Given the description of an element on the screen output the (x, y) to click on. 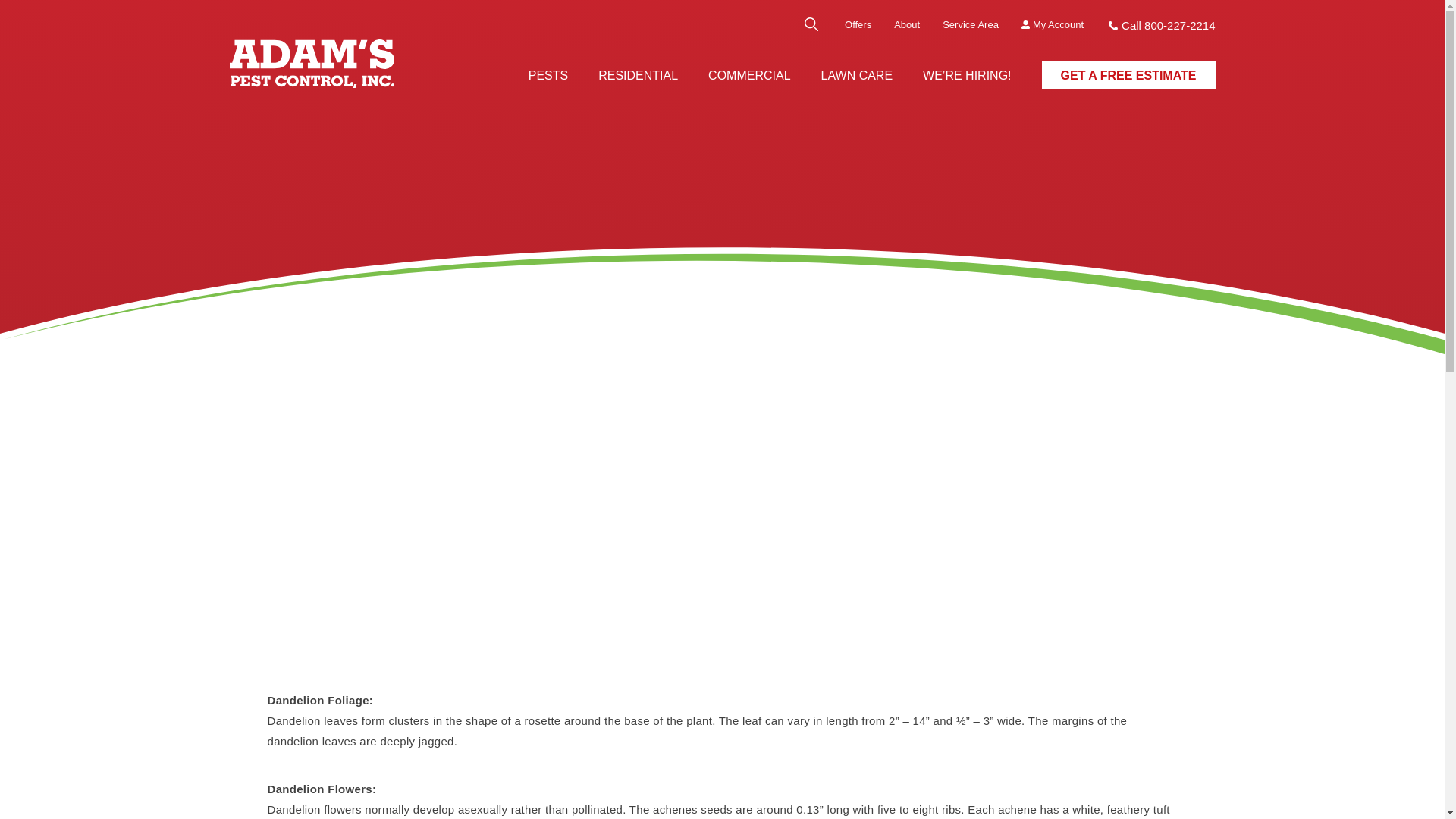
RESIDENTIAL (638, 74)
Offers (857, 23)
GET A FREE ESTIMATE (1128, 75)
COMMERCIAL (748, 74)
PESTS (547, 74)
LAWN CARE (857, 74)
